Given the description of an element on the screen output the (x, y) to click on. 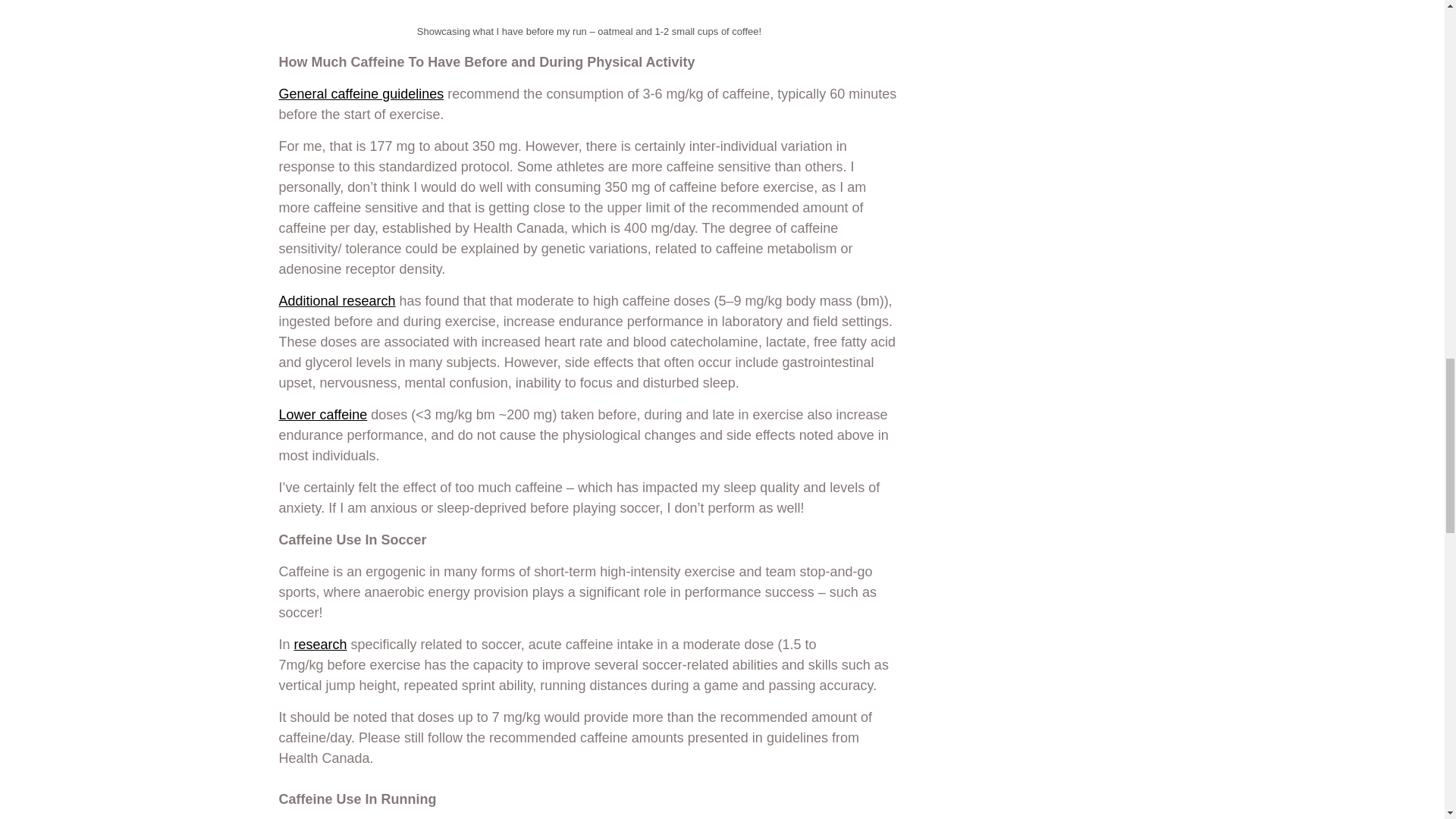
research (320, 644)
Lower caffeine (323, 414)
Additional research (337, 301)
General caffeine guidelines (361, 94)
